Given the description of an element on the screen output the (x, y) to click on. 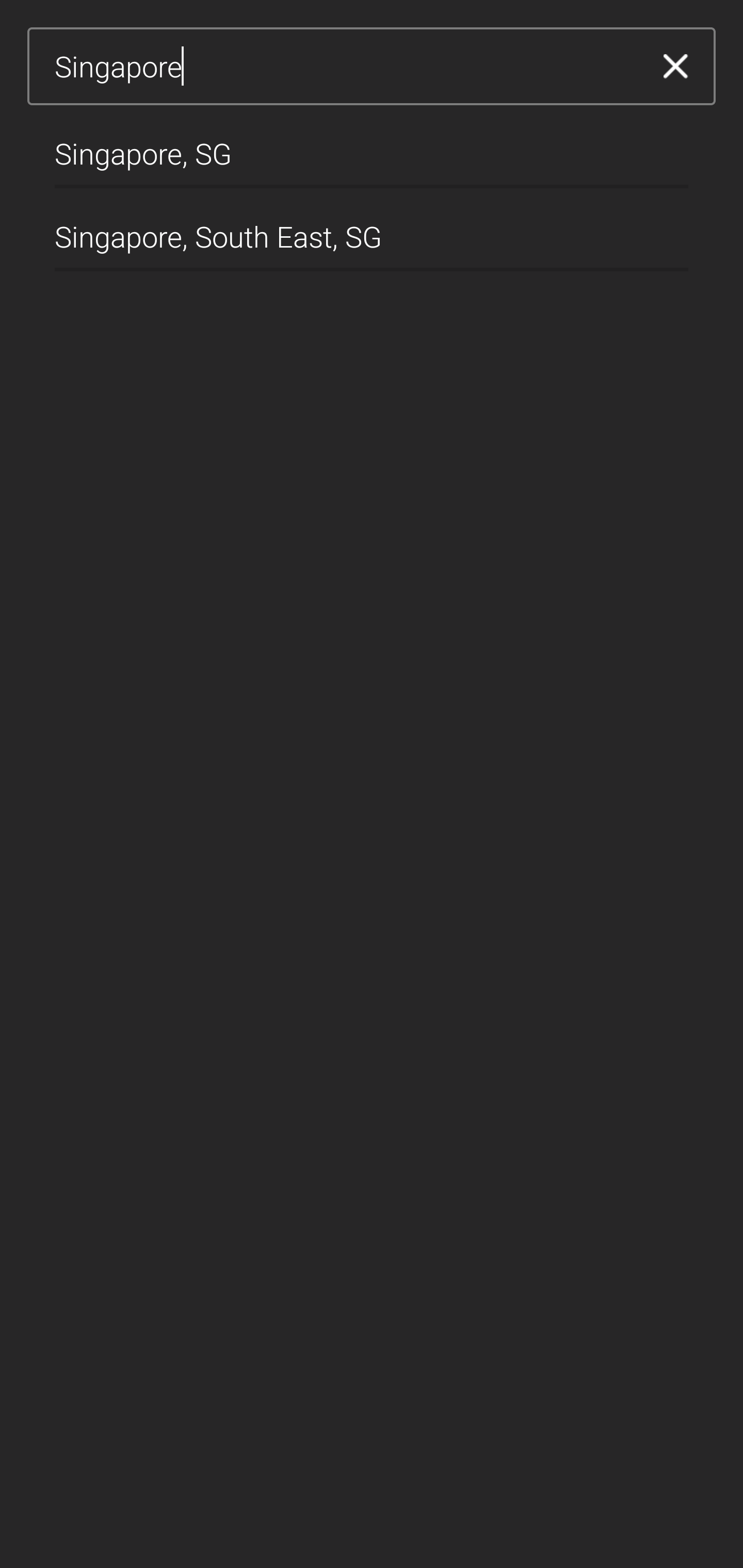
Singapore (345, 66)
Singapore, SG (371, 146)
Singapore, South East, SG (371, 229)
